Given the description of an element on the screen output the (x, y) to click on. 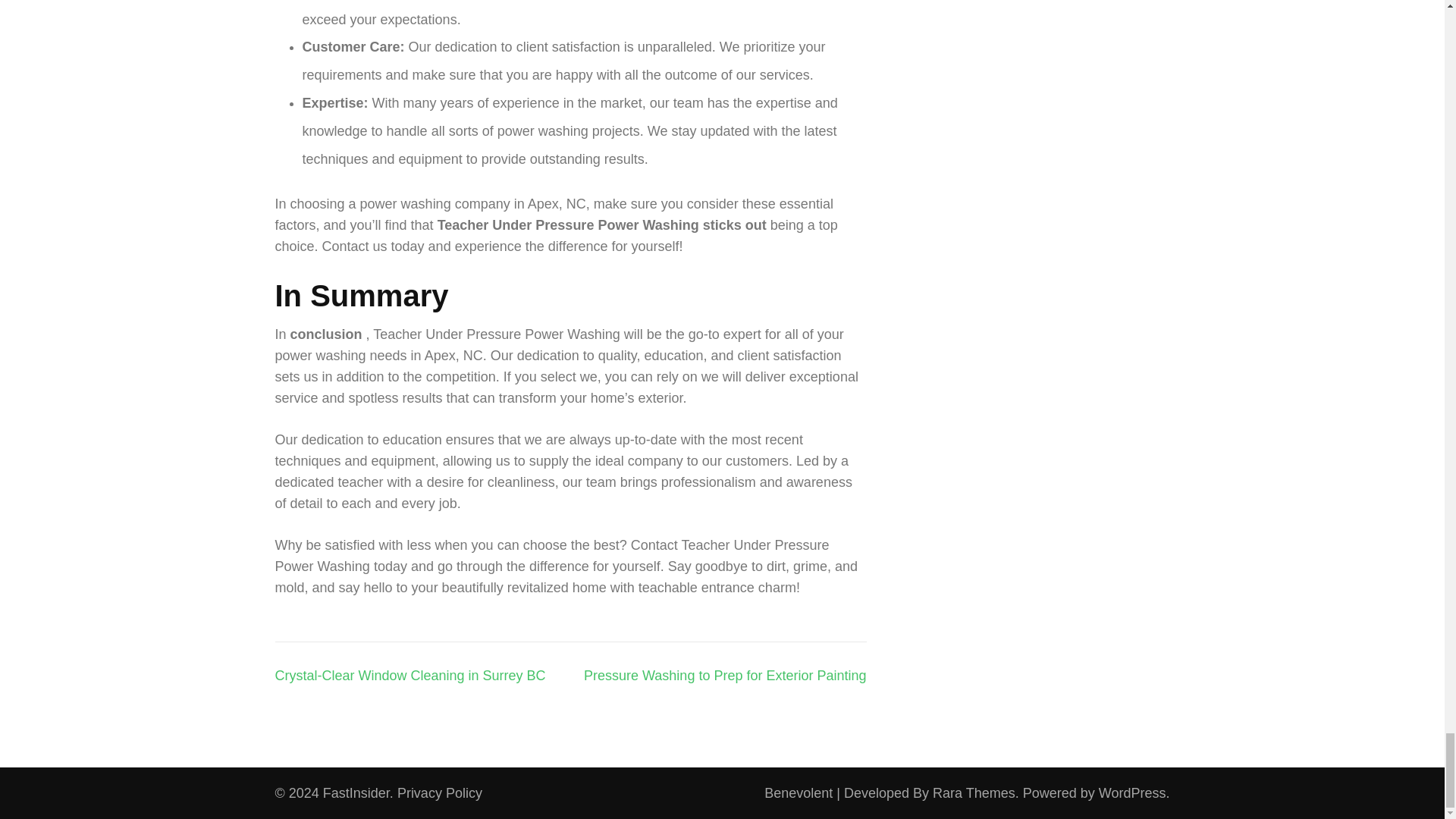
Crystal-Clear Window Cleaning in Surrey BC (409, 675)
Pressure Washing to Prep for Exterior Painting (724, 675)
